Given the description of an element on the screen output the (x, y) to click on. 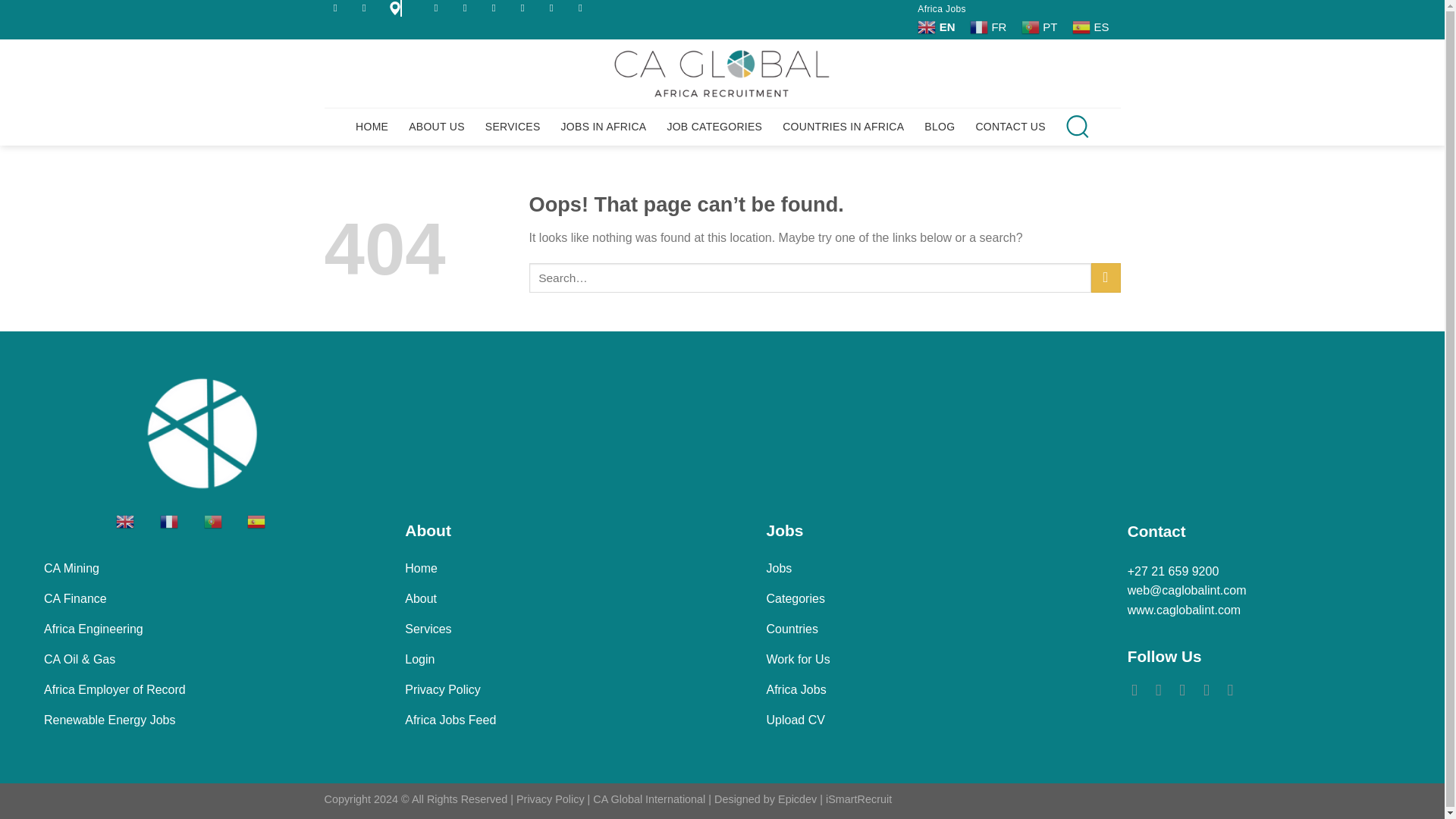
Spanish (1091, 26)
CA Global - Jobs in Africa (721, 72)
English (937, 26)
JOBS IN AFRICA (603, 126)
HOME (371, 126)
EN (937, 26)
PT (1041, 26)
ABOUT US (436, 126)
French (180, 520)
JOB CATEGORIES (713, 126)
